Given the description of an element on the screen output the (x, y) to click on. 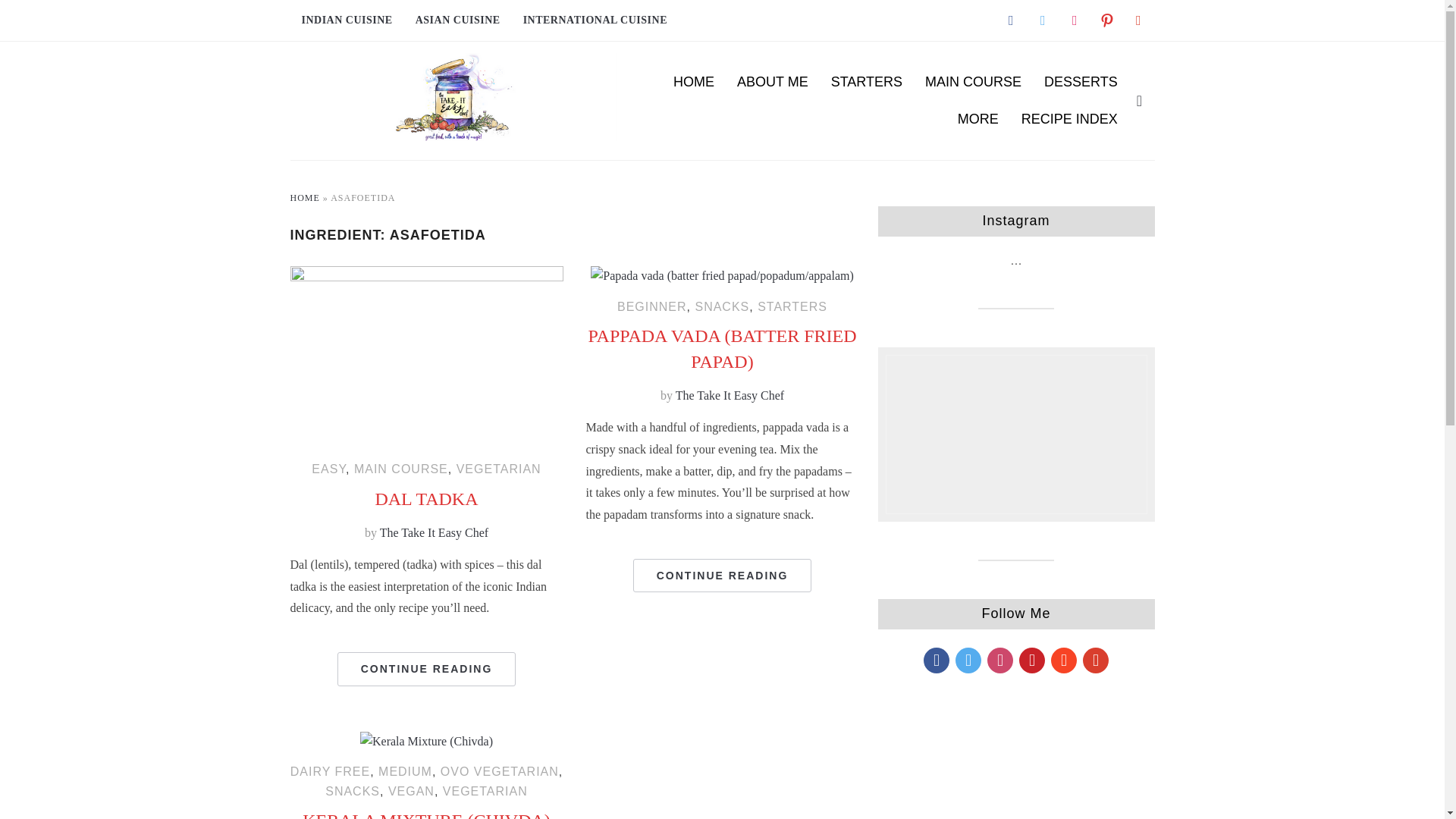
google (1138, 19)
INTERNATIONAL CUISINE (595, 20)
INDIAN CUISINE (346, 20)
pinterest (1106, 19)
Posts by The Take It Easy Chef (433, 532)
Posts by The Take It Easy Chef (729, 395)
ABOUT ME (772, 81)
facebook (1010, 19)
Instagram (1074, 19)
Dal Tadka (425, 275)
